Given the description of an element on the screen output the (x, y) to click on. 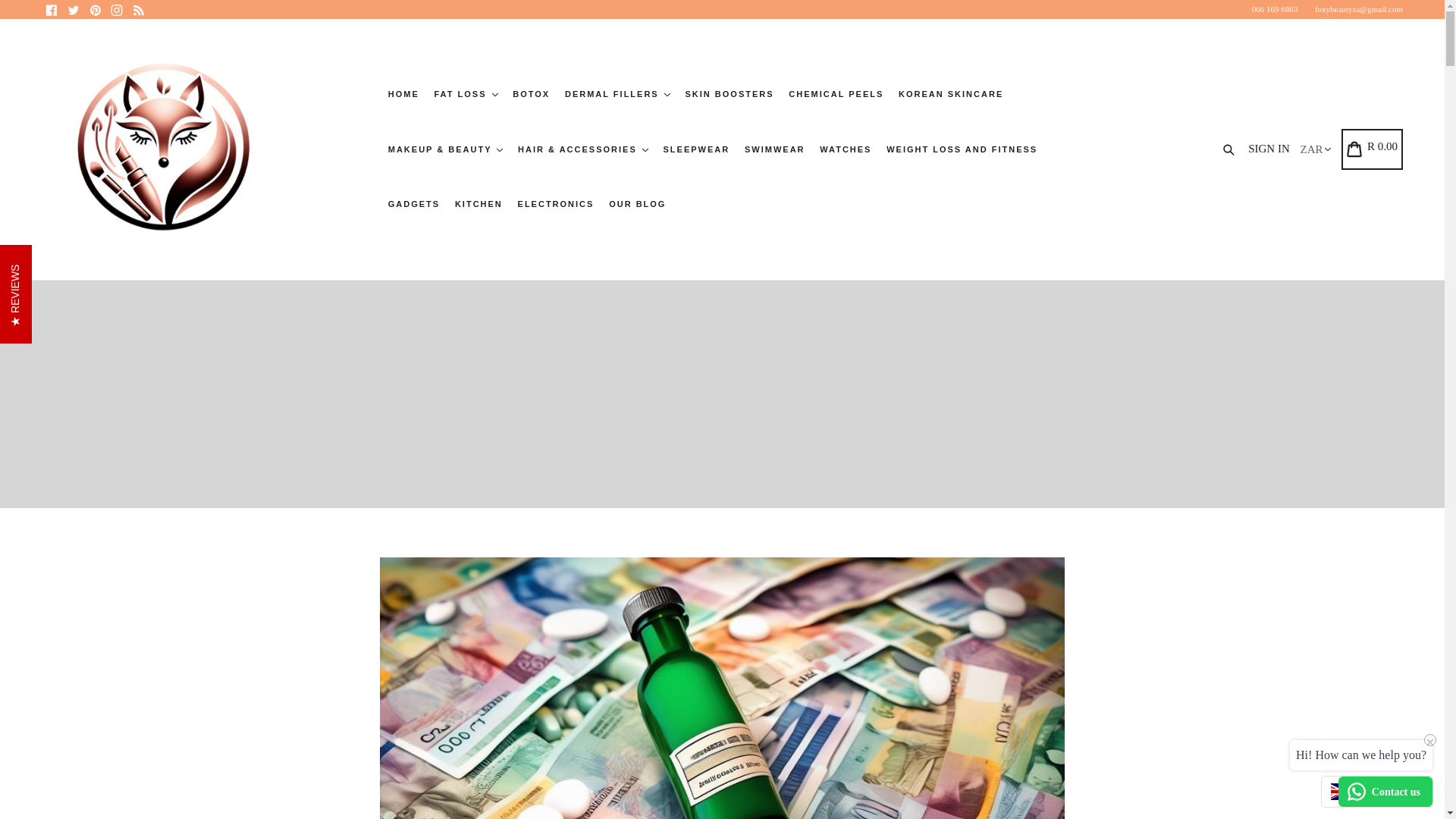
Foxy Beauty on Pinterest (94, 9)
Foxy Beauty on Instagram (116, 9)
Foxy Beauty on Twitter (73, 9)
Foxy Beauty on Facebook (51, 9)
